Given the description of an element on the screen output the (x, y) to click on. 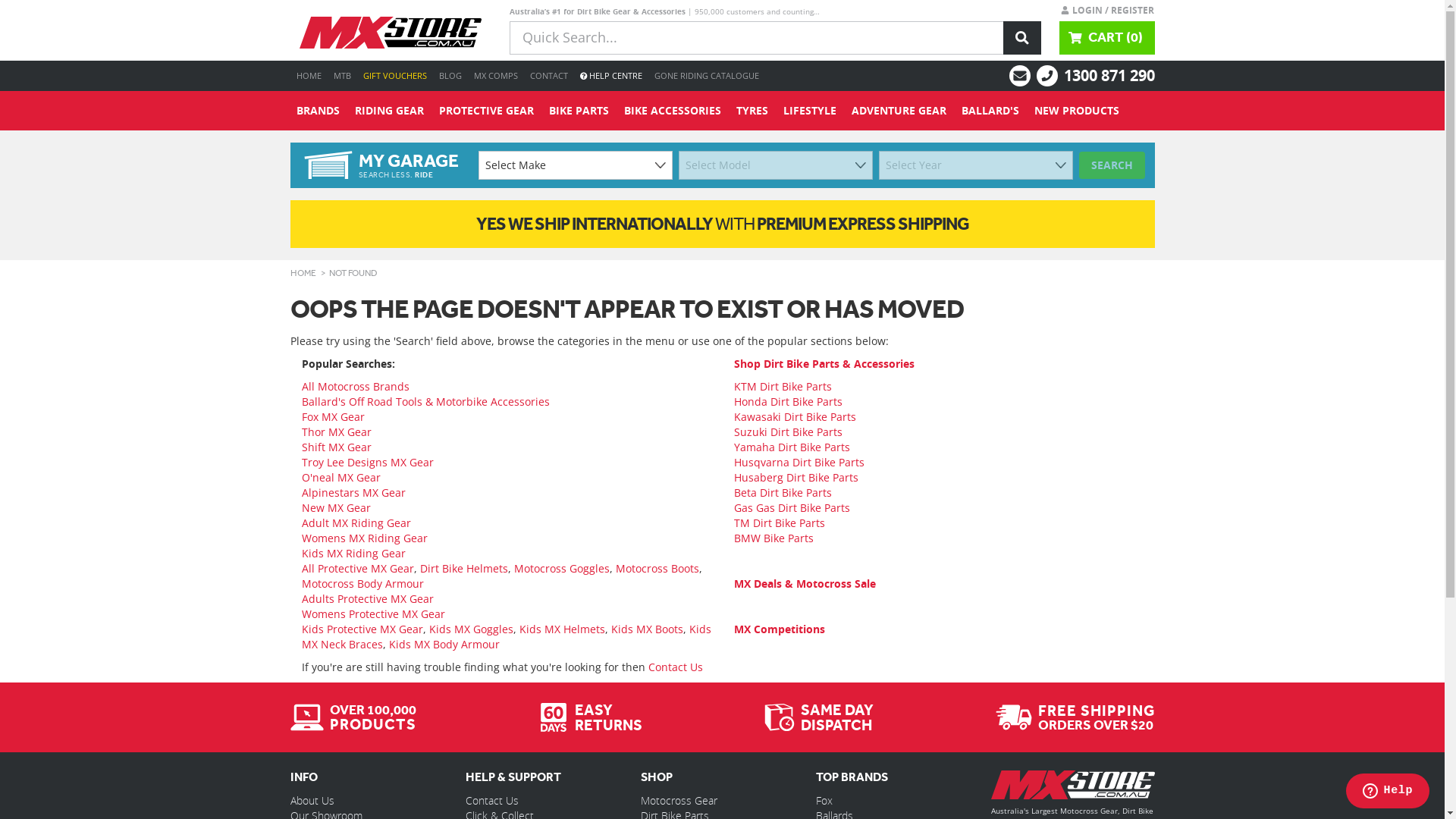
MX COMPS Element type: text (495, 75)
BMW Bike Parts Element type: text (773, 537)
GIFT VOUCHERS Element type: text (394, 75)
LOGIN / REGISTER Element type: text (1107, 9)
Kids MX Body Armour Element type: text (443, 644)
Gas Gas Dirt Bike Parts Element type: text (792, 507)
Motocross Boots Element type: text (657, 568)
MXstore Home Element type: hover (1072, 787)
Alpinestars MX Gear Element type: text (353, 492)
Suzuki Dirt Bike Parts Element type: text (788, 431)
Shop Dirt Bike Parts & Accessories Element type: text (824, 363)
Fox Element type: text (823, 800)
Yamaha Dirt Bike Parts Element type: text (792, 446)
Honda Dirt Bike Parts Element type: text (788, 401)
Contact Us Element type: text (674, 666)
HELP CENTRE Element type: text (610, 75)
RIDING GEAR Element type: text (388, 110)
Kids MX Helmets Element type: text (561, 628)
Adults Protective MX Gear Element type: text (367, 598)
PROTECTIVE GEAR Element type: text (485, 110)
MXstore.com.au: Motocross & Dirt Bike Gear Element type: hover (389, 32)
New MX Gear Element type: text (335, 507)
Womens Protective MX Gear Element type: text (373, 613)
Husqvarna Dirt Bike Parts Element type: text (799, 462)
MX Competitions Element type: text (779, 628)
SAME DAY
DISPATCH Element type: text (818, 717)
BLOG Element type: text (449, 75)
MTB Element type: text (342, 75)
BIKE ACCESSORIES Element type: text (671, 110)
CONTACT Element type: text (548, 75)
KTM Dirt Bike Parts Element type: text (782, 386)
NEW PRODUCTS Element type: text (1076, 110)
About Us Element type: text (311, 800)
Ballard's Off Road Tools & Motorbike Accessories Element type: text (425, 401)
GONE RIDING CATALOGUE Element type: text (705, 75)
All Motocross Brands Element type: text (355, 386)
Kids MX Goggles Element type: text (471, 628)
Kids MX Neck Braces Element type: text (506, 636)
Dirt Bike Helmets Element type: text (464, 568)
HOME Element type: text (302, 272)
Motocross Body Armour Element type: text (362, 583)
Opens a widget where you can find more information Element type: hover (1387, 792)
Kids MX Riding Gear Element type: text (353, 553)
NOT FOUND Element type: text (353, 272)
Kids Protective MX Gear Element type: text (362, 628)
Motocross Gear Element type: text (678, 800)
EASY
RETURNS Element type: text (590, 717)
BIKE PARTS Element type: text (578, 110)
All Protective MX Gear Element type: text (357, 568)
Womens MX Riding Gear Element type: text (364, 537)
O'neal MX Gear Element type: text (340, 477)
Thor MX Gear Element type: text (336, 431)
MY GARAGE
SEARCH LESS. RIDE MORE! Element type: text (380, 165)
MX Deals & Motocross Sale Element type: text (804, 583)
Shift MX Gear Element type: text (336, 446)
ADVENTURE GEAR Element type: text (897, 110)
Adult MX Riding Gear Element type: text (356, 522)
Search Element type: text (1022, 37)
OVER 100,000
PRODUCTS Element type: text (352, 717)
1300 871 290 Element type: text (1108, 75)
BALLARD'S Element type: text (990, 110)
FREE SHIPPING
ORDERS OVER $20 Element type: text (1074, 717)
Beta Dirt Bike Parts Element type: text (782, 492)
LIFESTYLE Element type: text (808, 110)
Troy Lee Designs MX Gear Element type: text (367, 462)
HOME Element type: text (307, 75)
BRANDS Element type: text (317, 110)
TM Dirt Bike Parts Element type: text (779, 522)
SEARCH Element type: text (1112, 164)
TYRES Element type: text (751, 110)
CART
(0) Element type: text (1106, 37)
Fox MX Gear Element type: text (332, 416)
Kids MX Boots Element type: text (647, 628)
Kawasaki Dirt Bike Parts Element type: text (795, 416)
Contact Us Element type: text (491, 800)
Husaberg Dirt Bike Parts Element type: text (796, 477)
Motocross Goggles Element type: text (561, 568)
YES WE SHIP INTERNATIONALLY WITH PREMIUM EXPRESS SHIPPING Element type: text (721, 223)
